Given the description of an element on the screen output the (x, y) to click on. 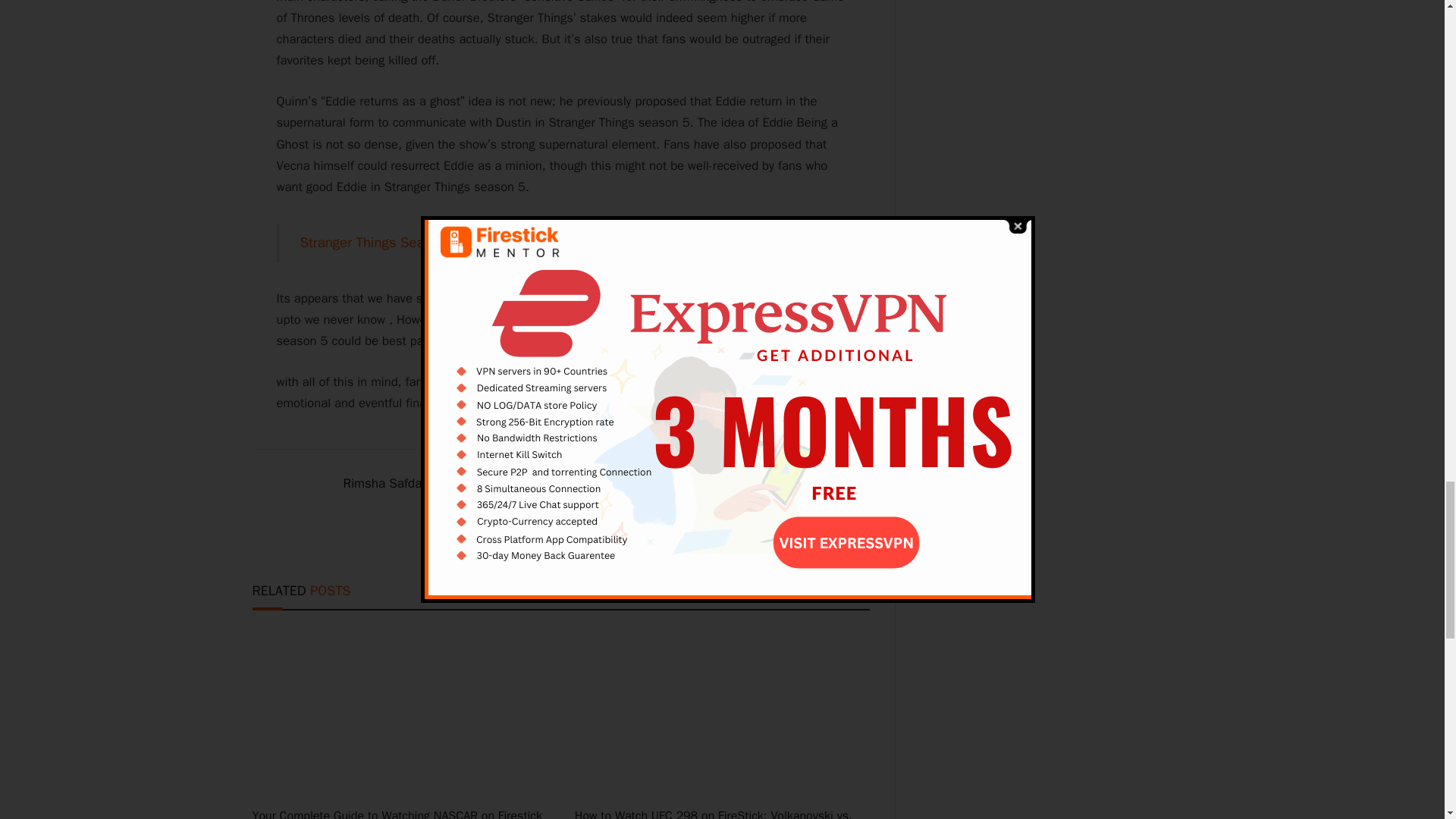
How to Watch UFC 298 on FireStick: Volkanovski vs. Topuria (722, 813)
Your Complete Guide to Watching NASCAR on Firestick (399, 813)
Posts by Rimsha Safdar (383, 483)
Your Complete Guide to Watching NASCAR on Firestick (399, 712)
Rimsha Safdar (383, 483)
